Given the description of an element on the screen output the (x, y) to click on. 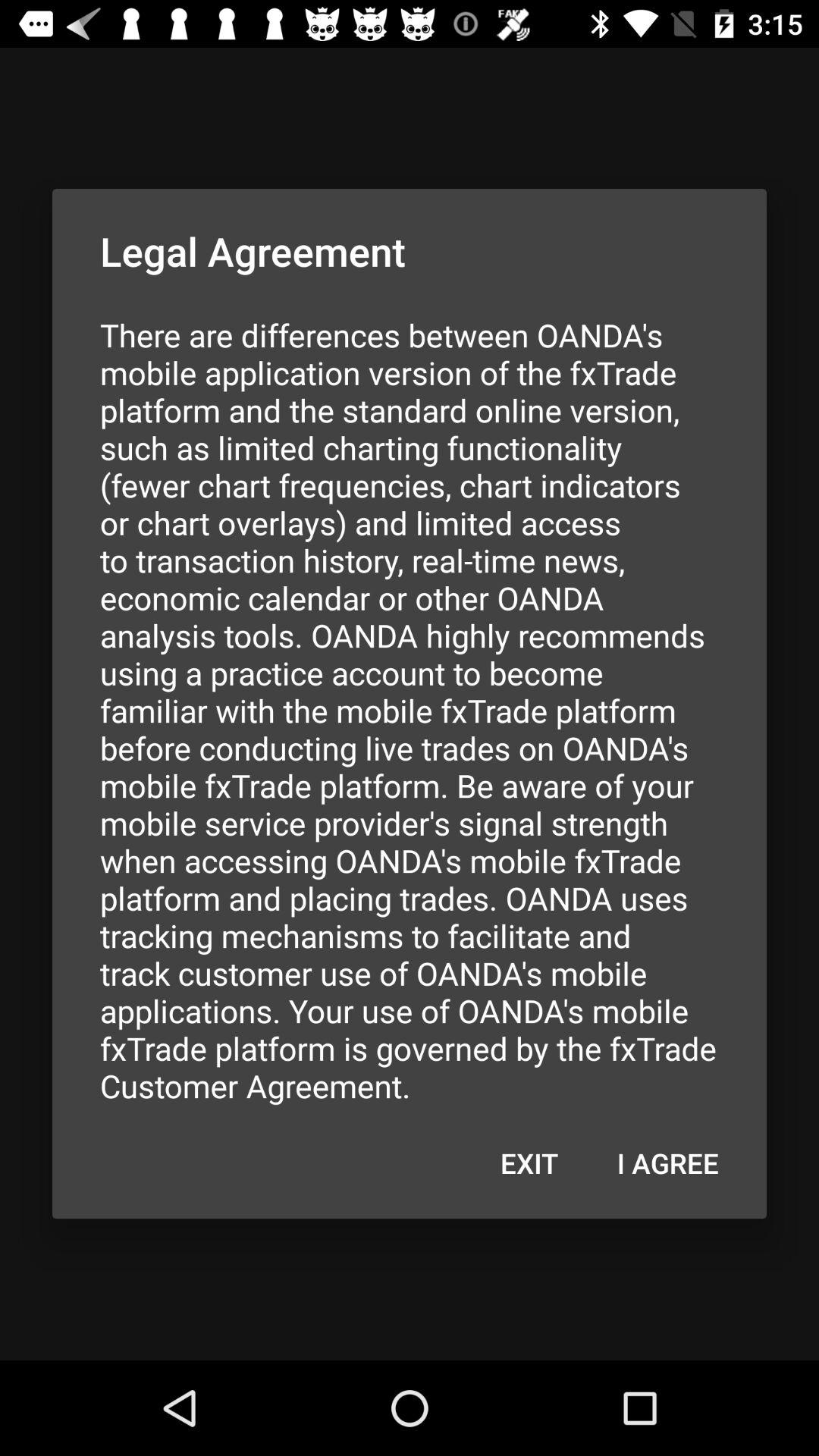
turn off the exit (529, 1162)
